Given the description of an element on the screen output the (x, y) to click on. 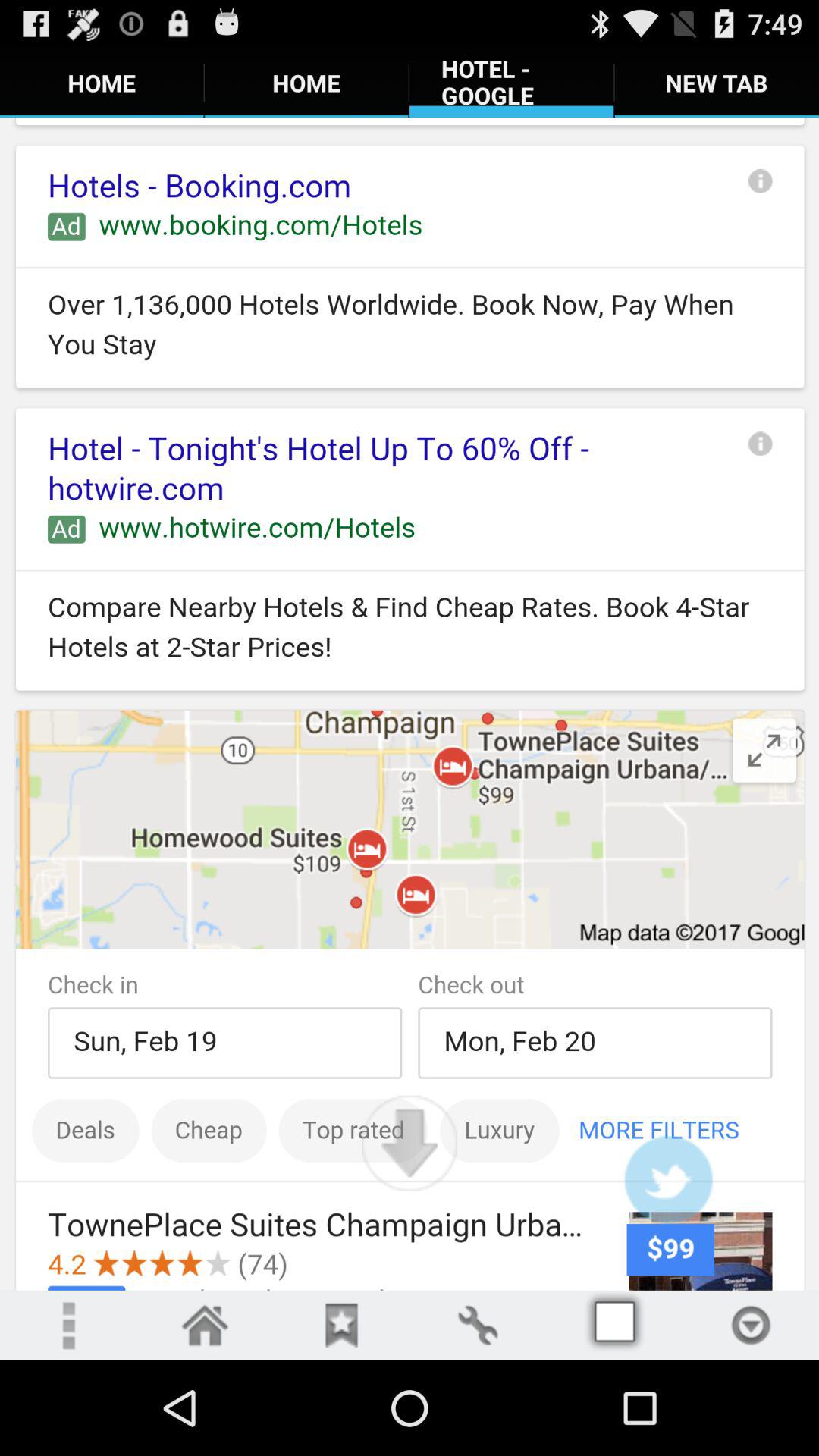
home page (204, 1325)
